Given the description of an element on the screen output the (x, y) to click on. 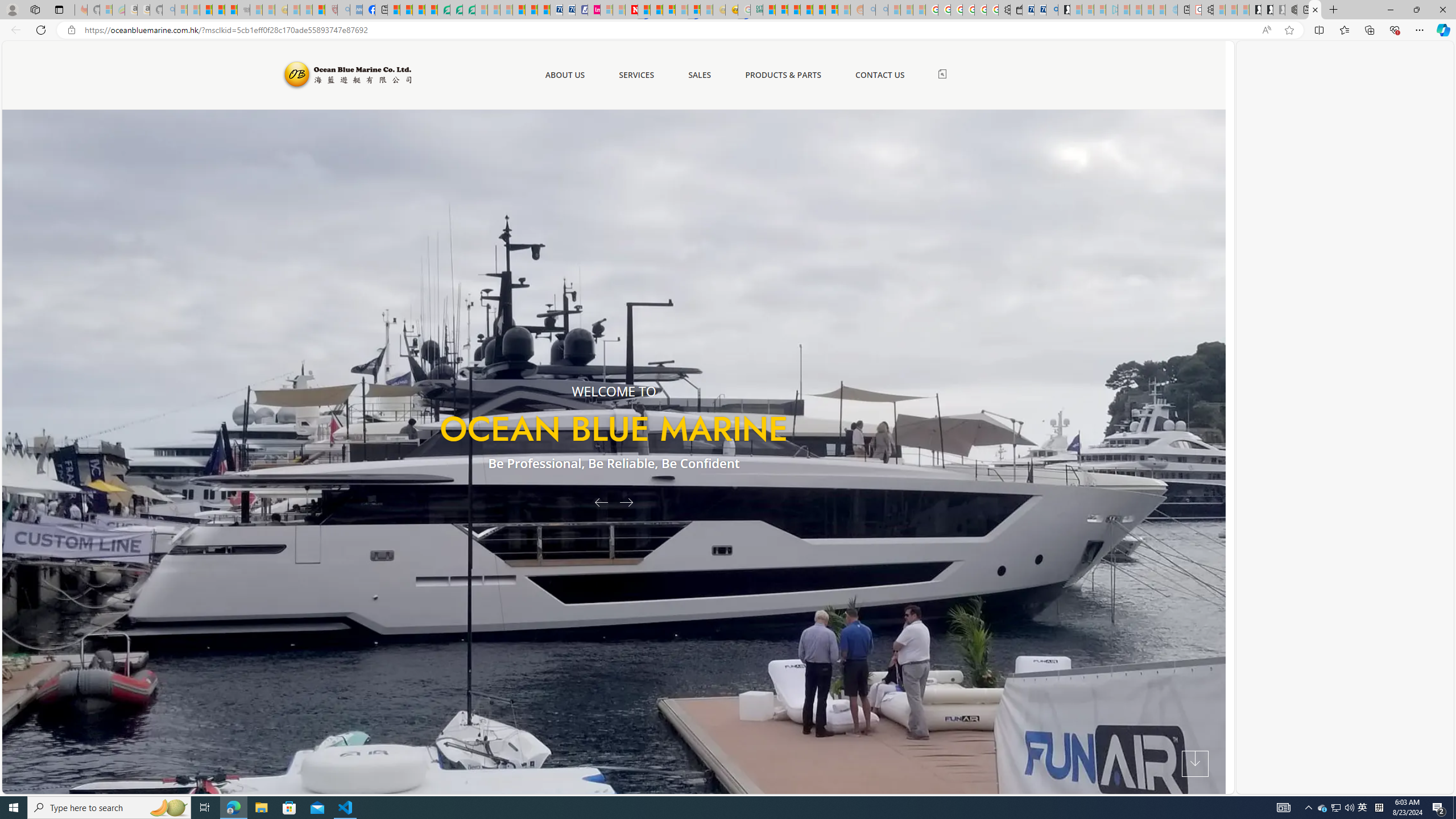
PRODUCTS & PARTS (783, 74)
Terms of Use Agreement (456, 9)
